Given the description of an element on the screen output the (x, y) to click on. 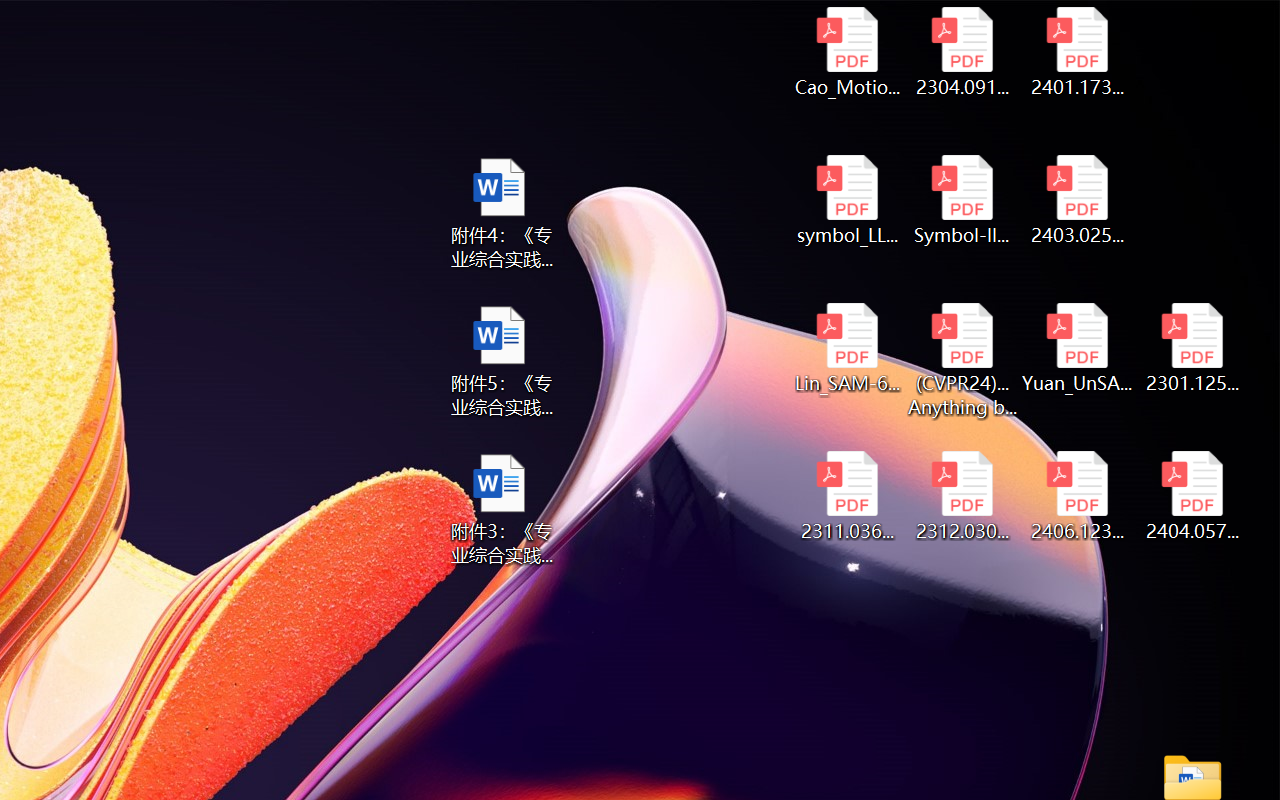
symbol_LLM.pdf (846, 200)
2301.12597v3.pdf (1192, 348)
Symbol-llm-v2.pdf (962, 200)
2404.05719v1.pdf (1192, 496)
(CVPR24)Matching Anything by Segmenting Anything.pdf (962, 360)
2311.03658v2.pdf (846, 496)
2312.03032v2.pdf (962, 496)
2304.09121v3.pdf (962, 52)
2401.17399v1.pdf (1077, 52)
